Given the description of an element on the screen output the (x, y) to click on. 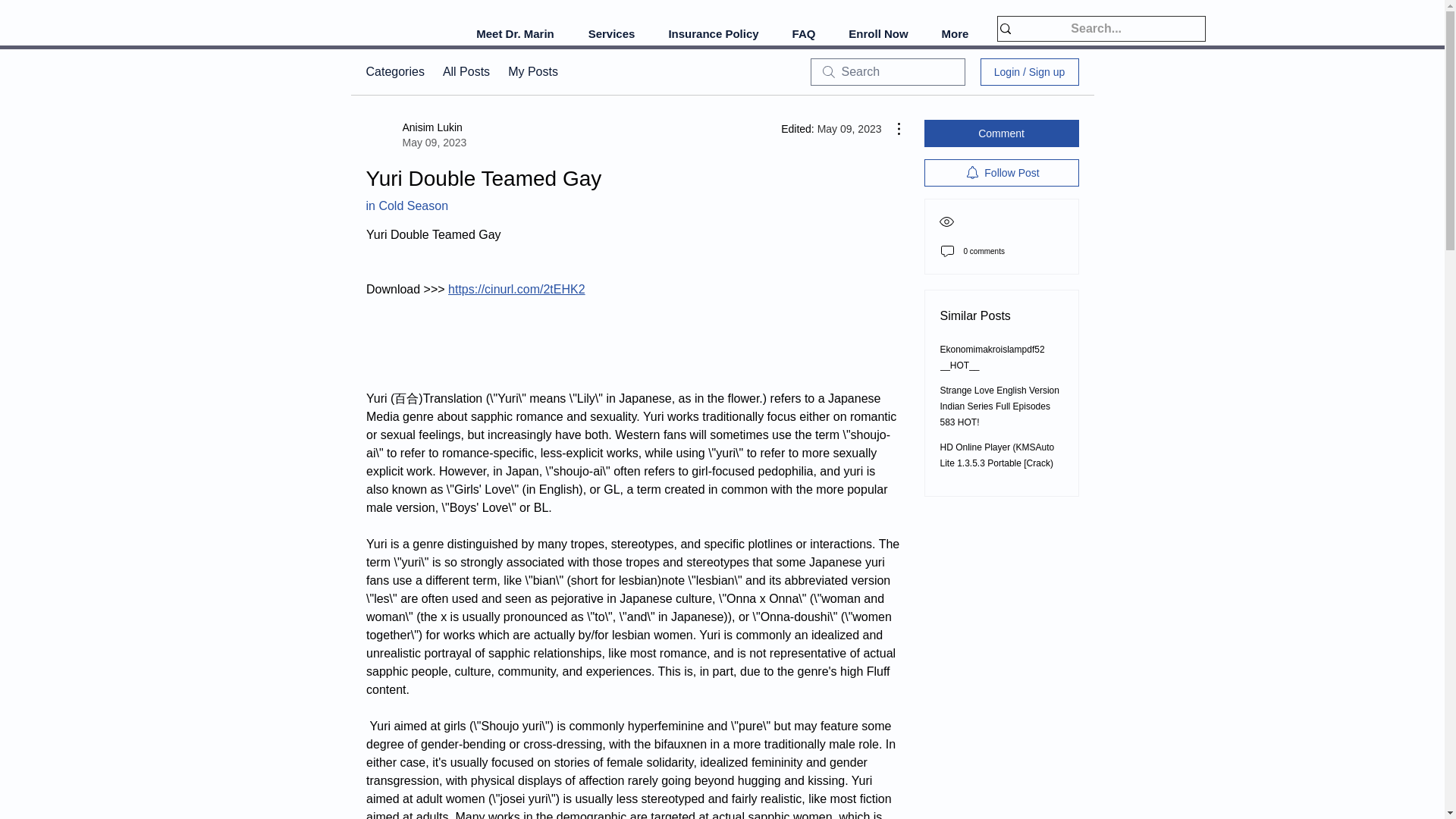
Meet Dr. Marin (516, 34)
Insurance Policy (714, 34)
All Posts (465, 72)
My Posts (532, 72)
Categories (394, 72)
Follow Post (1000, 172)
Comment (1000, 133)
in Cold Season (406, 205)
Services (612, 34)
FAQ (802, 34)
Enroll Now (878, 34)
